Given the description of an element on the screen output the (x, y) to click on. 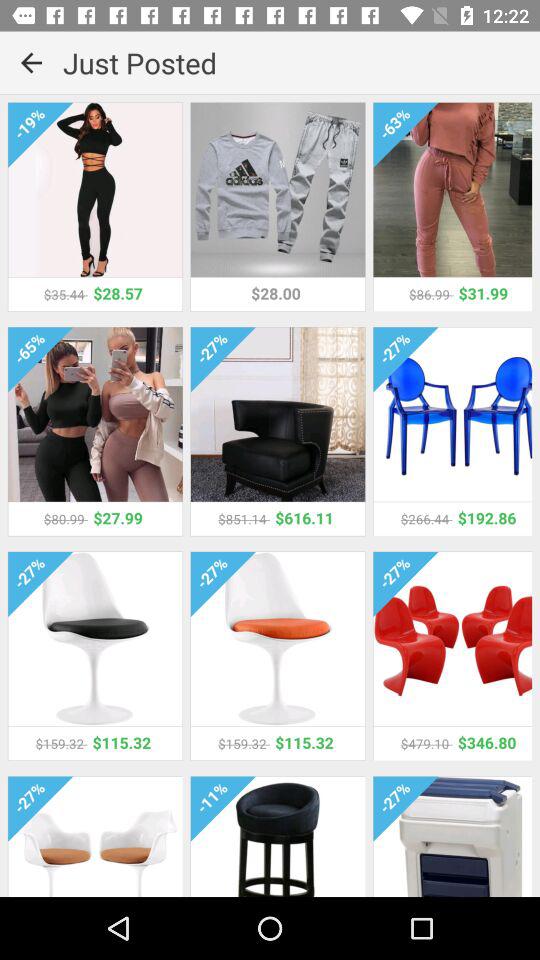
scroll until the just posted icon (301, 62)
